Given the description of an element on the screen output the (x, y) to click on. 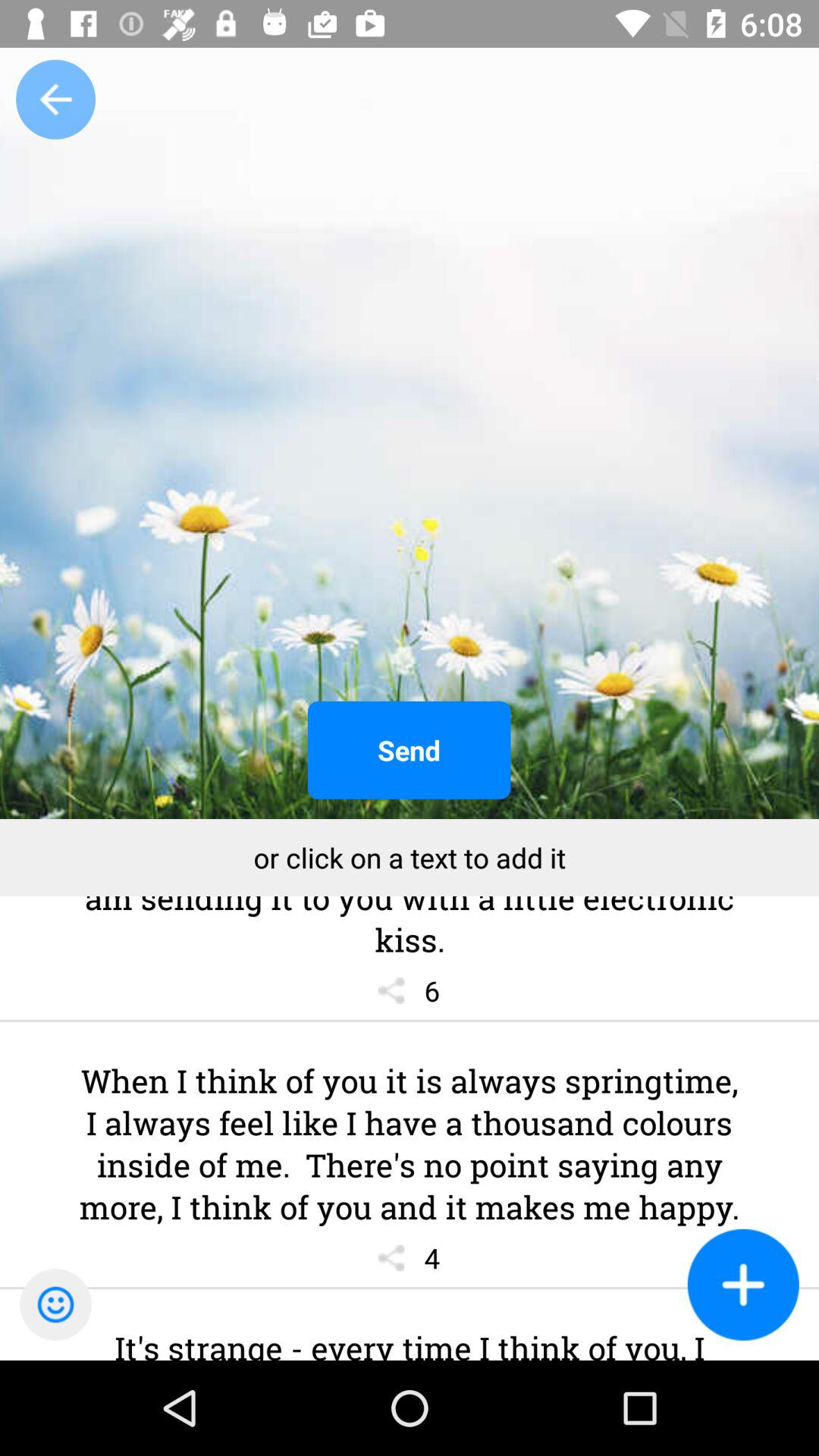
click on send button (409, 750)
